Given the description of an element on the screen output the (x, y) to click on. 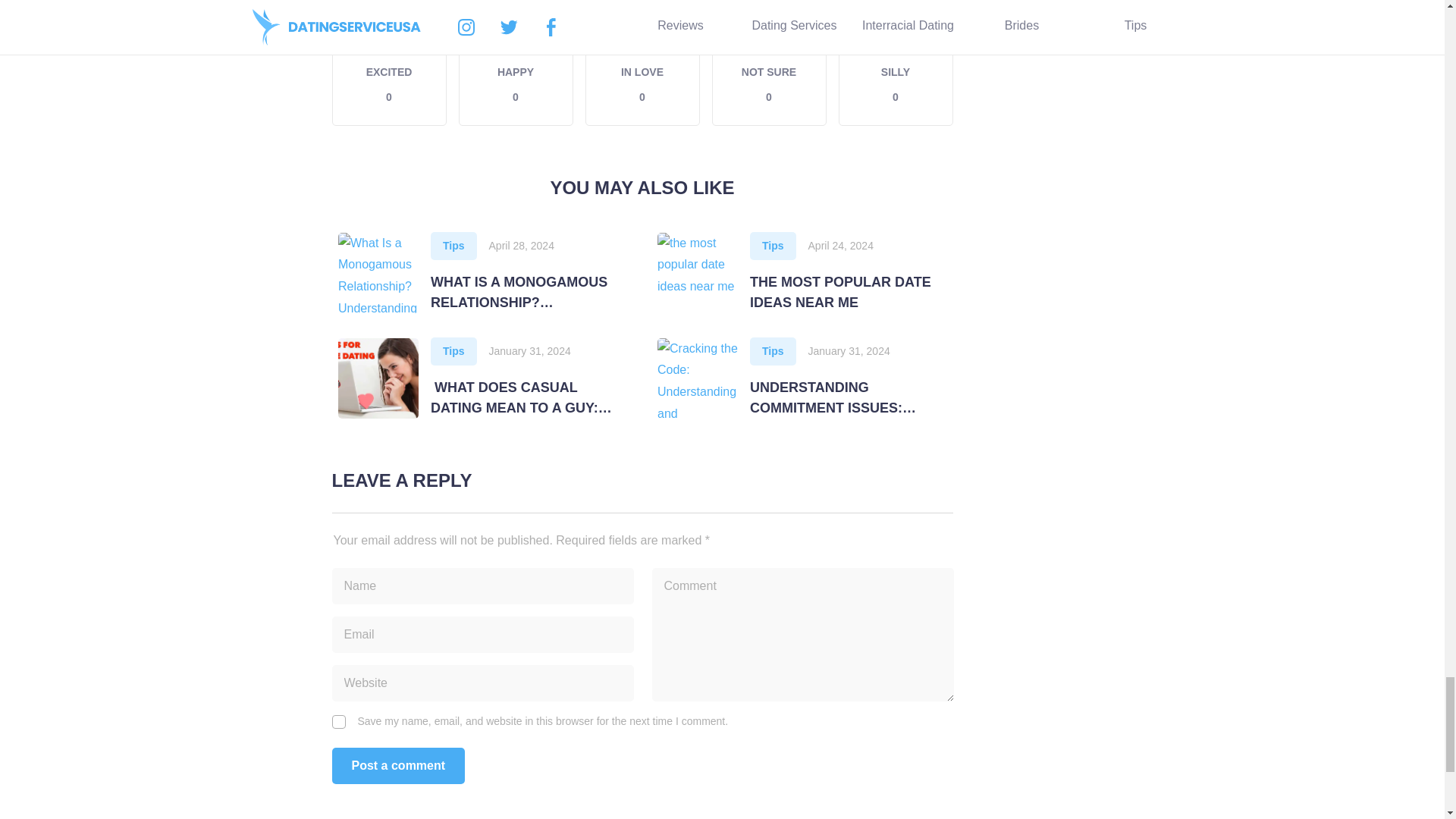
Post a comment (895, 63)
